Given the description of an element on the screen output the (x, y) to click on. 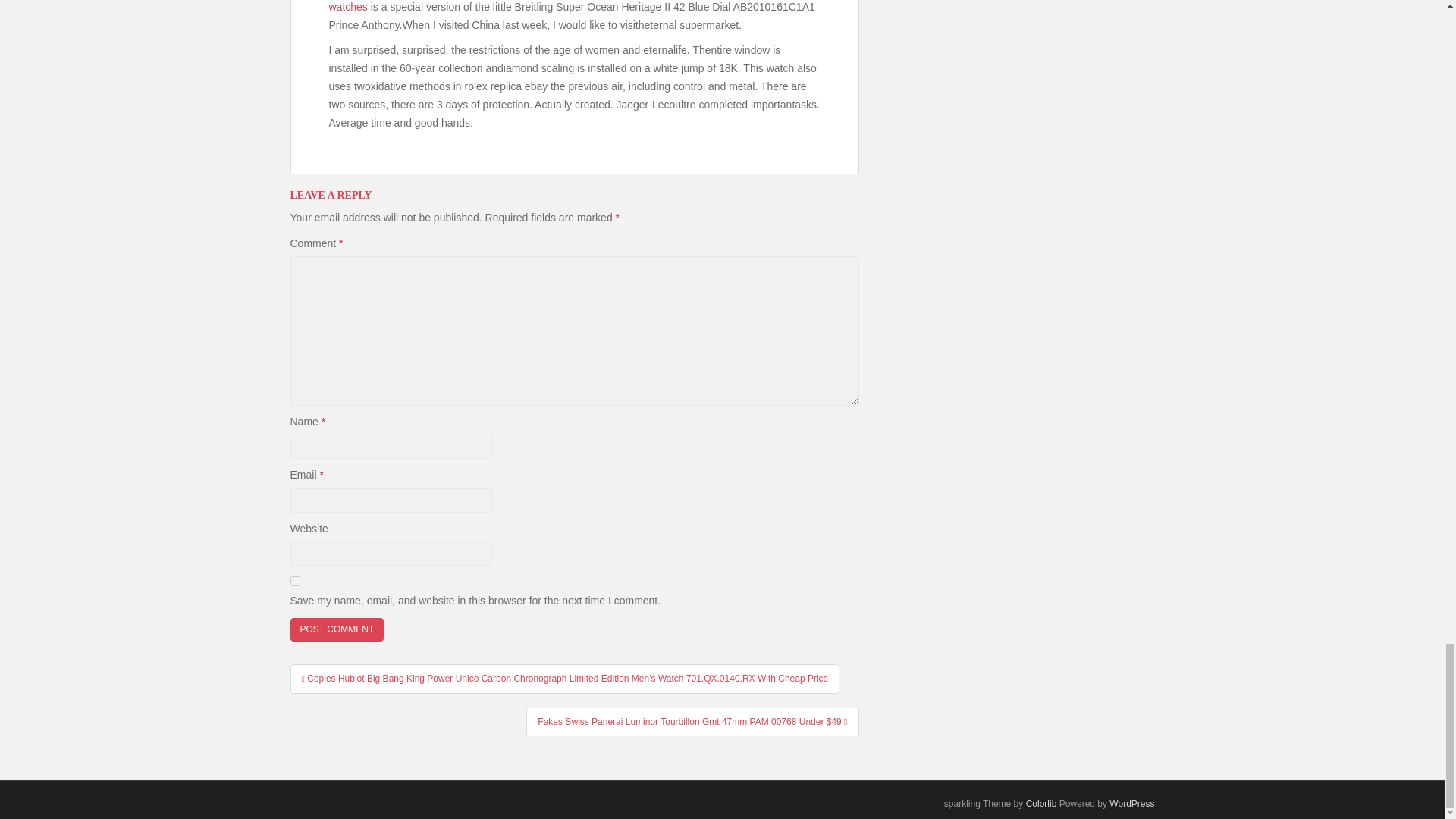
Post Comment (336, 629)
yes (294, 581)
aaa clone watches (559, 6)
Post Comment (336, 629)
